Given the description of an element on the screen output the (x, y) to click on. 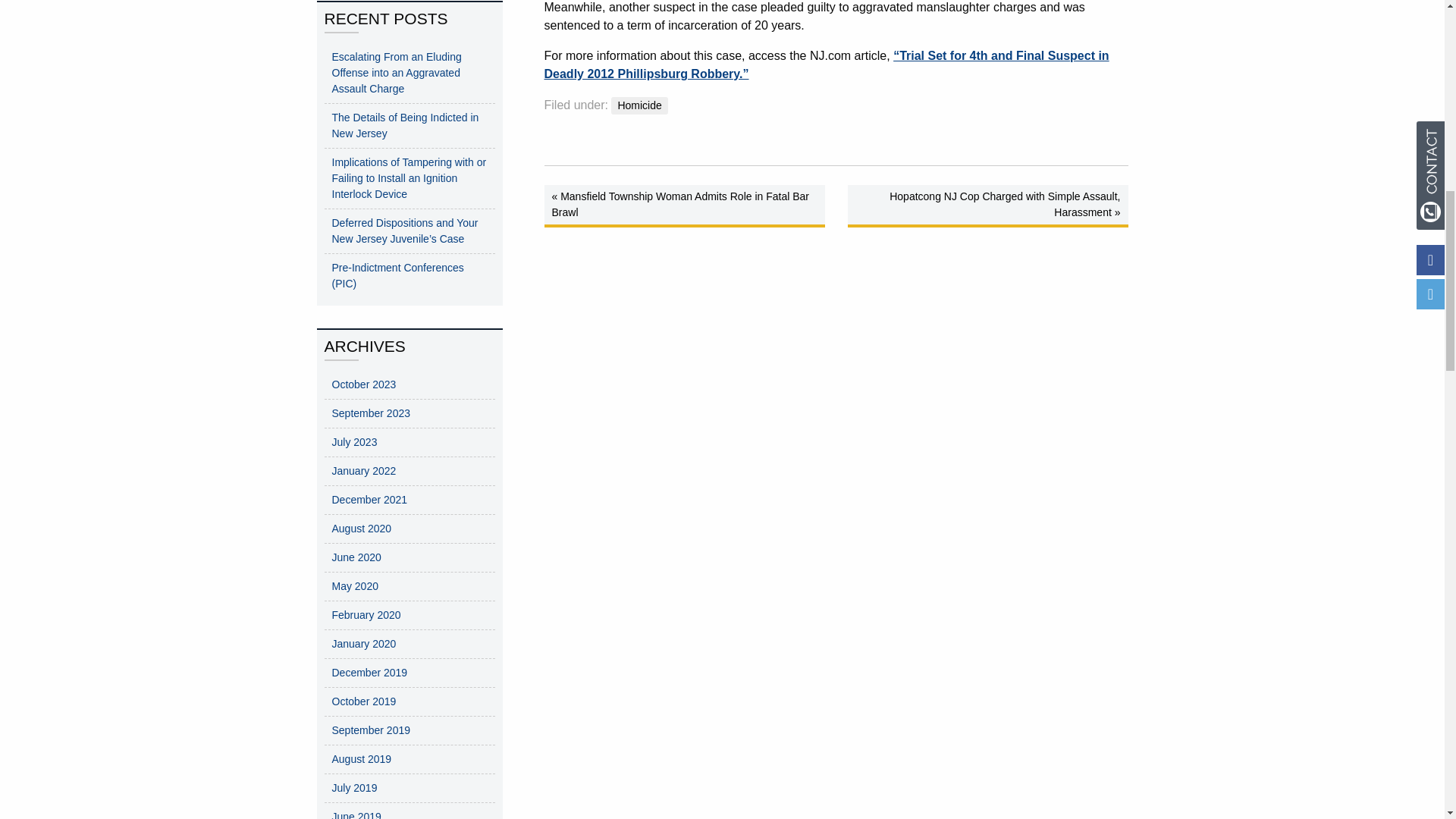
Homicide (638, 105)
